Given the description of an element on the screen output the (x, y) to click on. 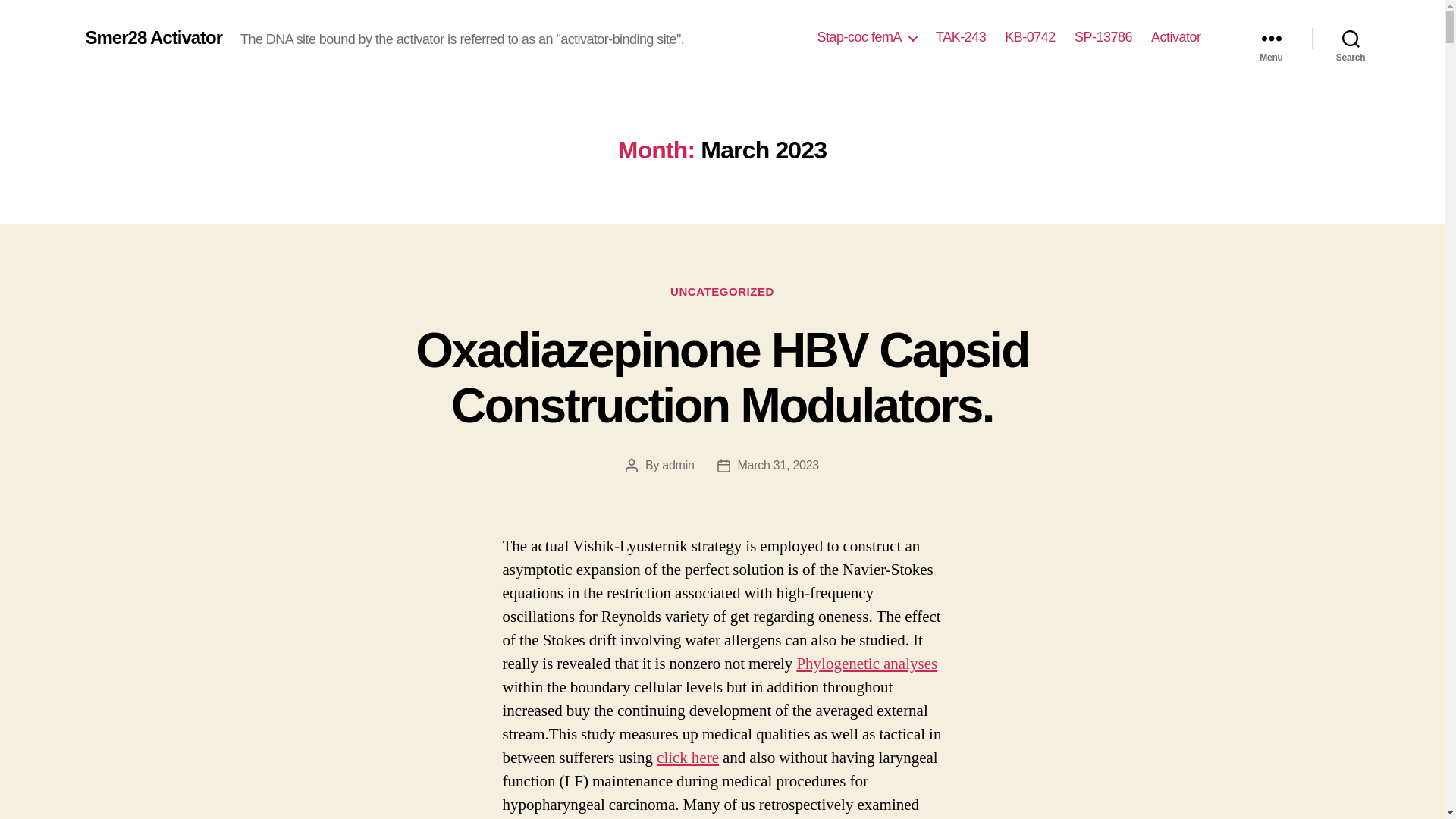
Stap-coc femA (866, 37)
TAK-243 (960, 37)
SP-13786 (1103, 37)
Search (1350, 37)
KB-0742 (1029, 37)
Activator (1176, 37)
Smer28 Activator (153, 37)
Menu (1271, 37)
